Given the description of an element on the screen output the (x, y) to click on. 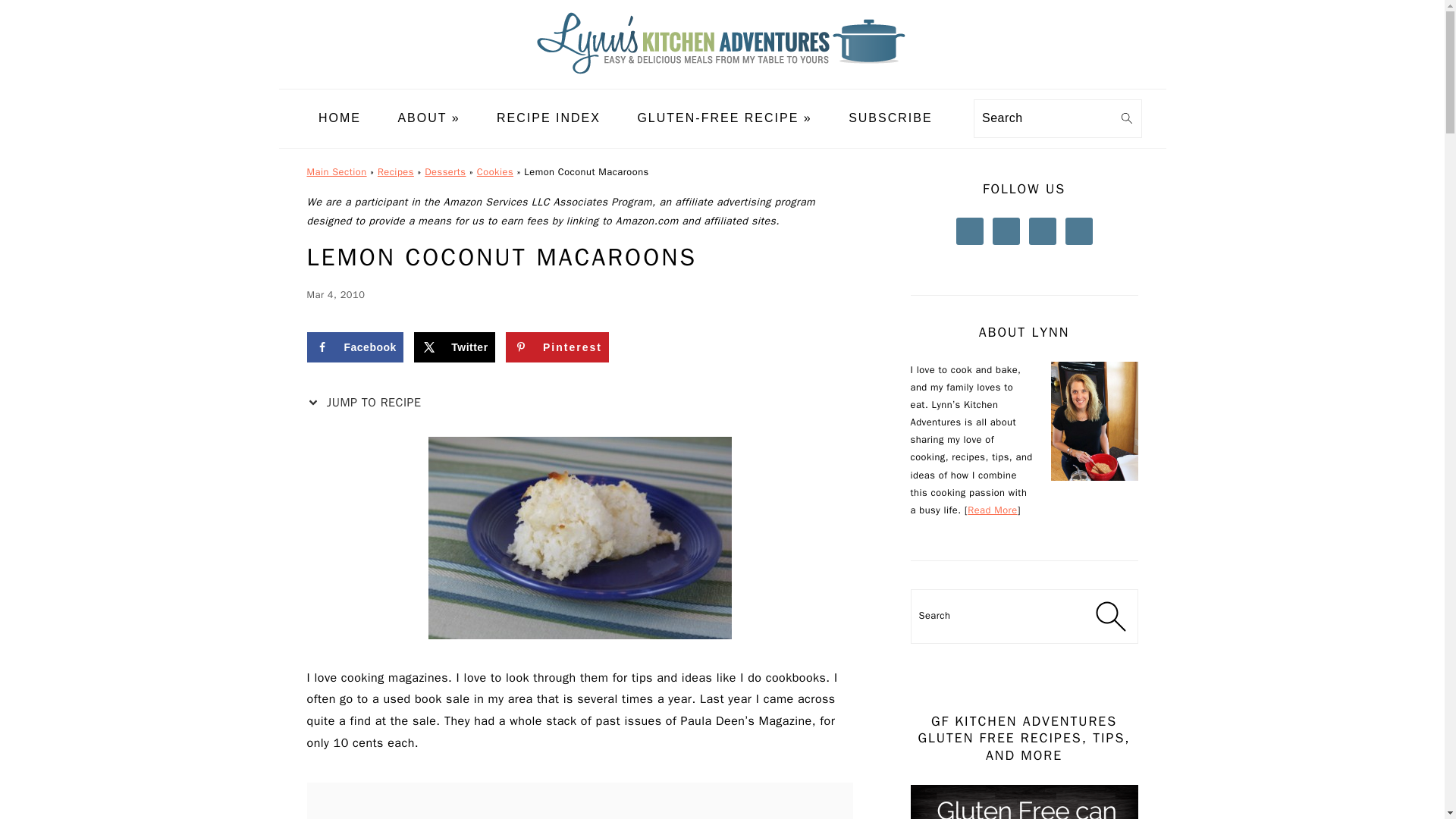
 coconut lemon macaroons (579, 537)
RECIPE INDEX (547, 118)
Cookies (495, 172)
Desserts (445, 172)
Twitter (454, 347)
Lynn's Kitchen Adventures (722, 77)
JUMP TO RECIPE (366, 402)
Pinterest (556, 347)
Main Section (335, 172)
Share on X (454, 347)
